Given the description of an element on the screen output the (x, y) to click on. 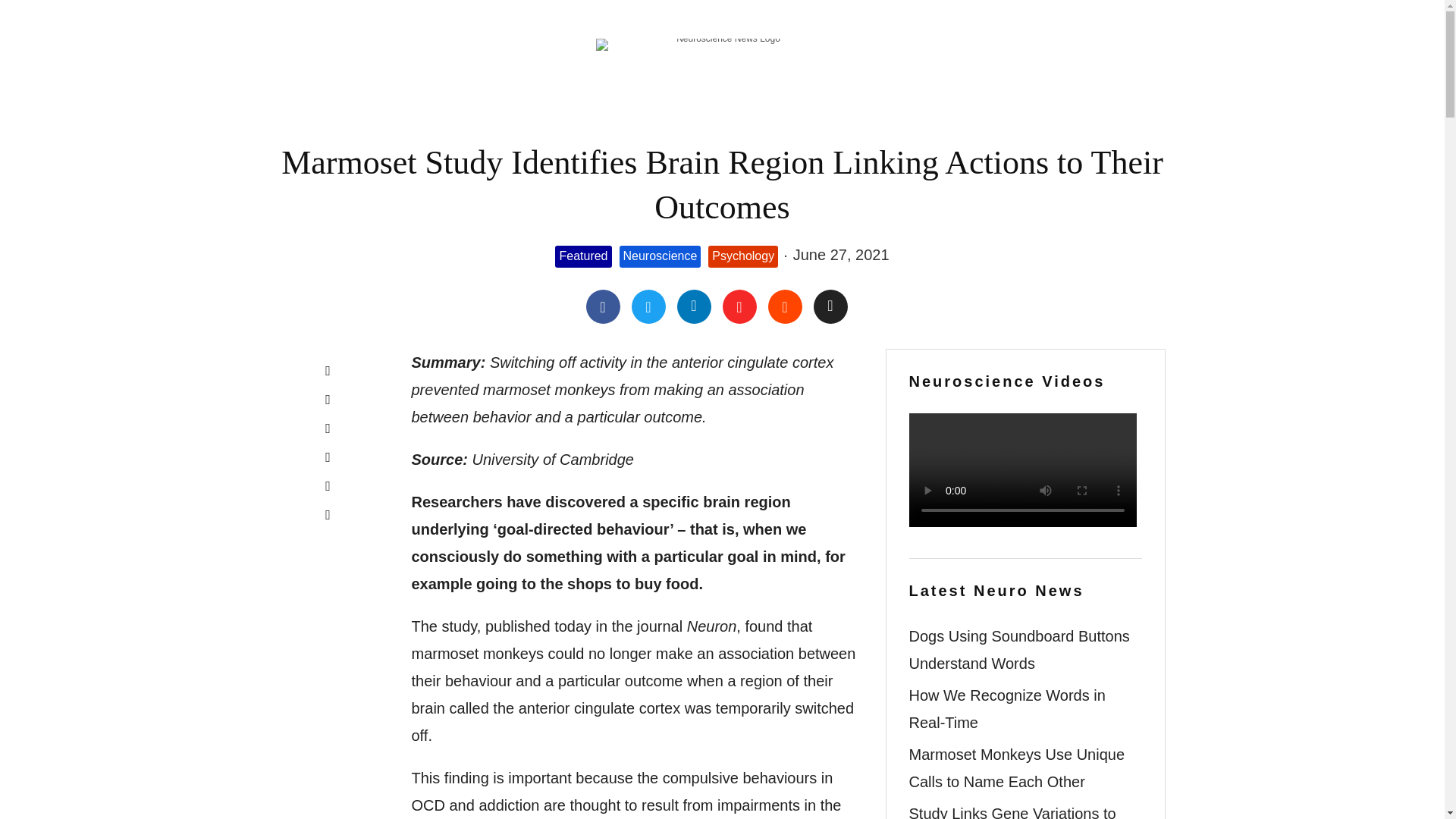
Neuroscience (660, 256)
Featured (582, 256)
Psychology (742, 256)
